Given the description of an element on the screen output the (x, y) to click on. 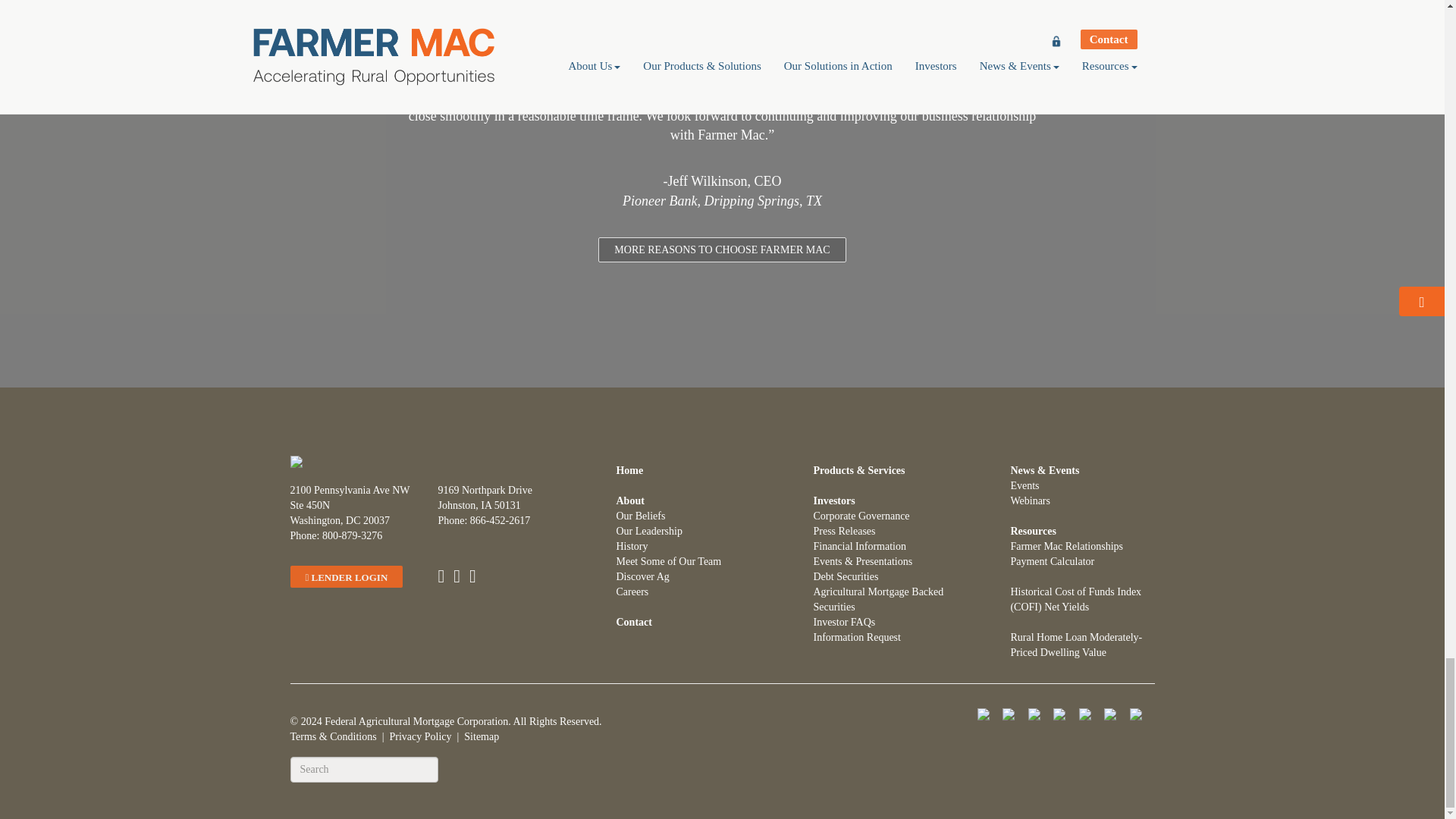
 LENDER LOGIN (346, 576)
Home (629, 470)
About (629, 500)
Our Beliefs (640, 515)
MORE REASONS TO CHOOSE FARMER MAC (721, 249)
